Given the description of an element on the screen output the (x, y) to click on. 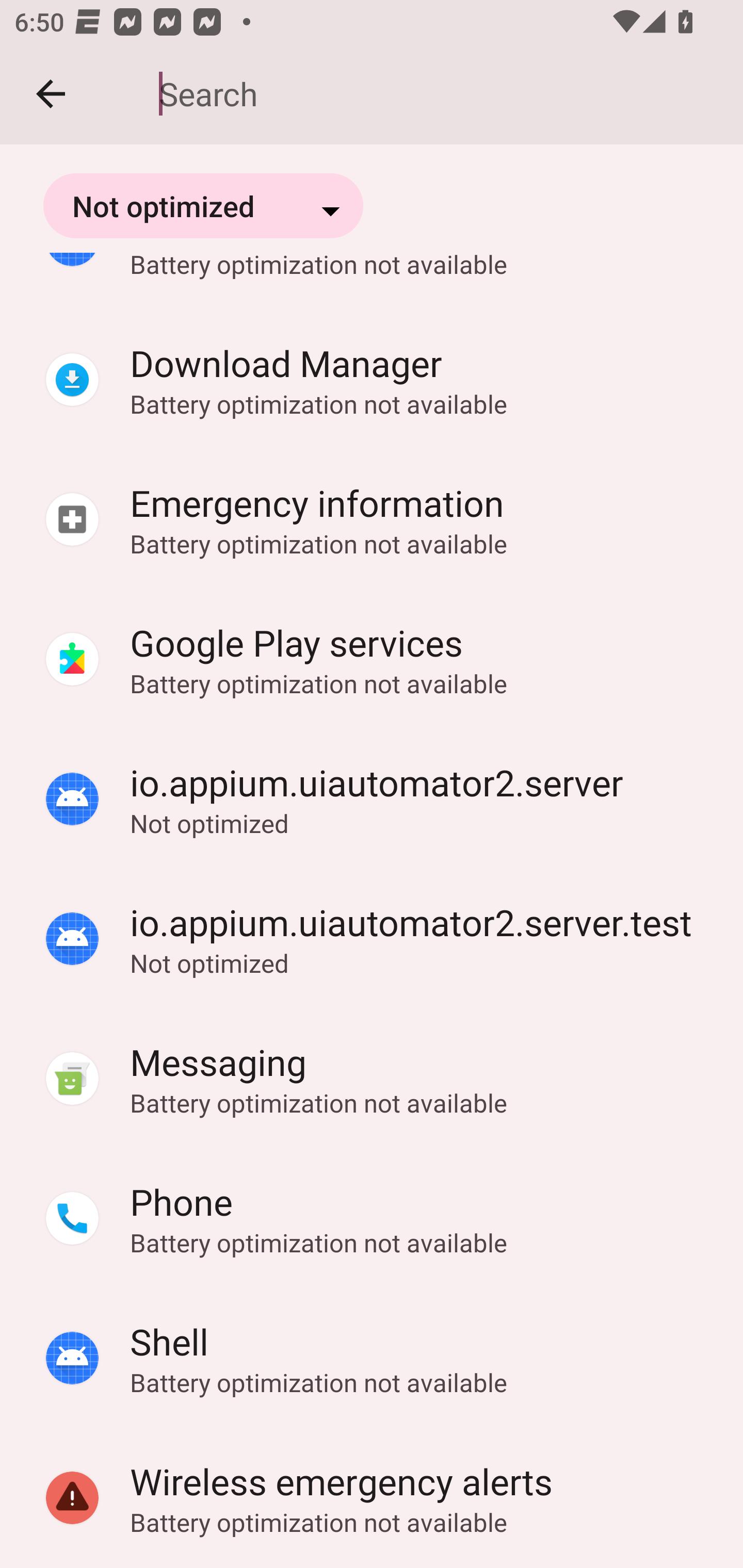
Collapse (50, 93)
Search (436, 94)
Not optimized (203, 205)
Phone Phone Battery optimization not available (371, 1218)
Shell Shell Battery optimization not available (371, 1358)
